Given the description of an element on the screen output the (x, y) to click on. 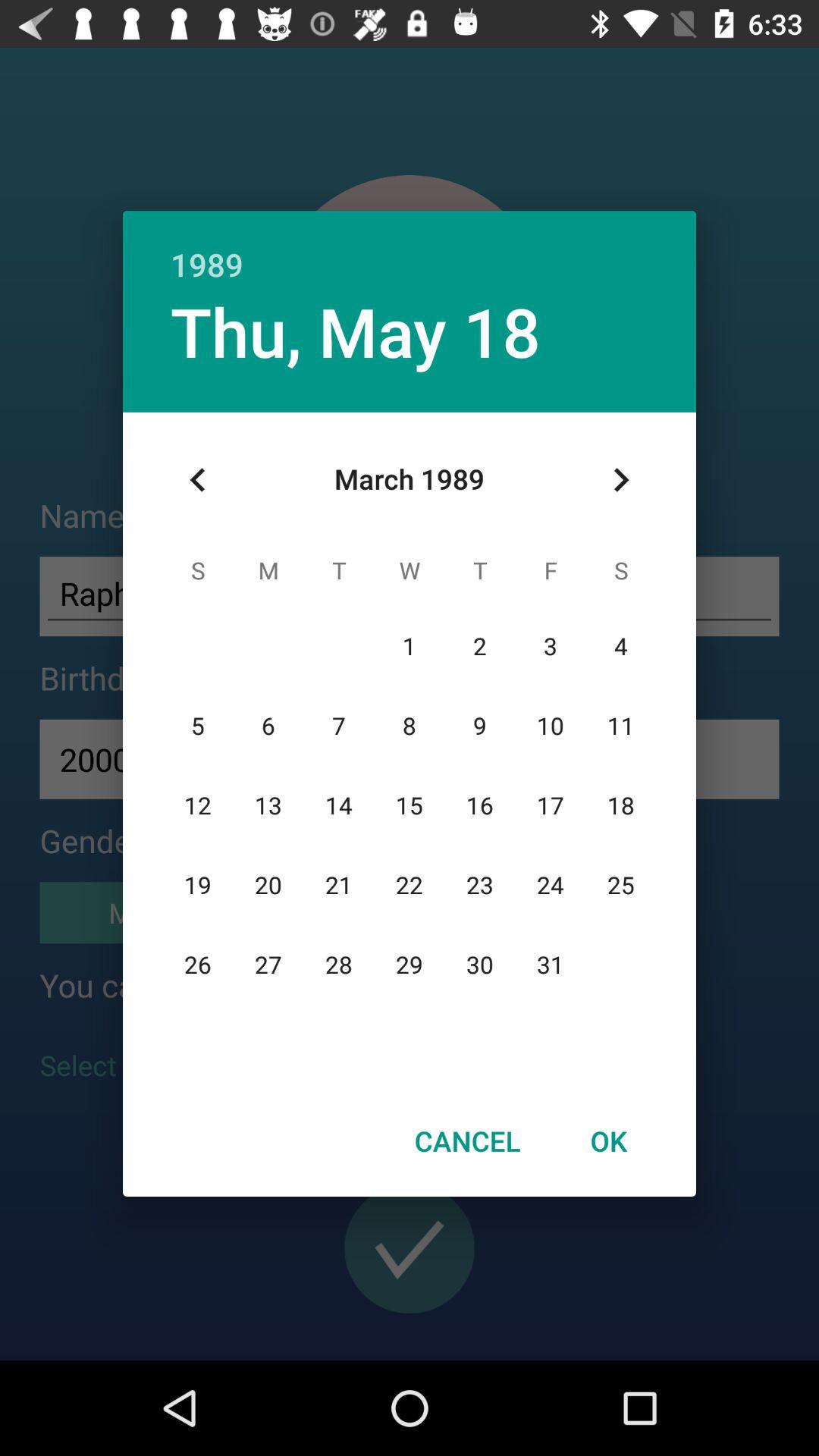
open app below the 1989 (355, 331)
